Given the description of an element on the screen output the (x, y) to click on. 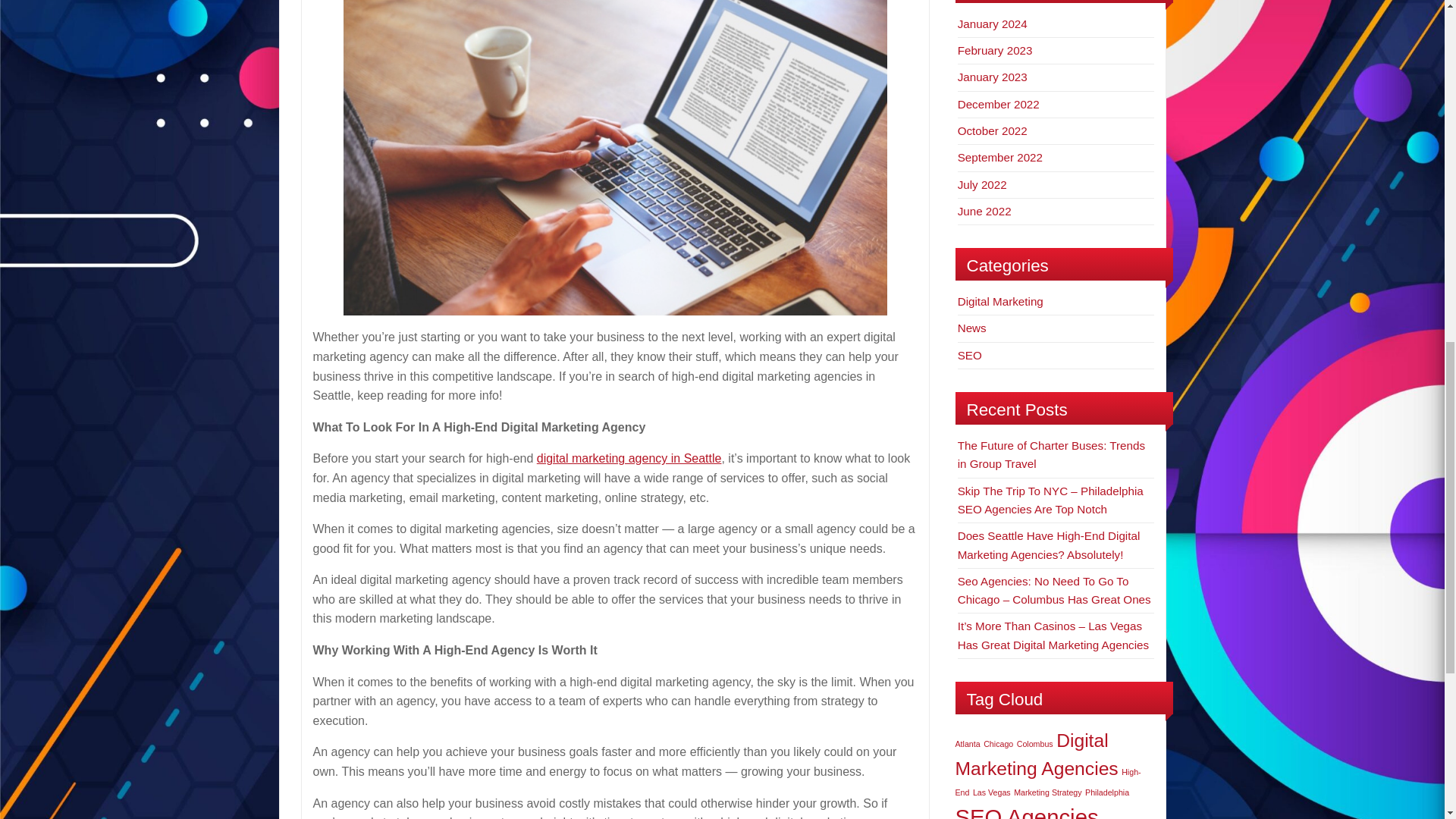
News (972, 327)
September 2022 (1000, 156)
SEO (969, 354)
Digital Marketing (1000, 300)
October 2022 (992, 130)
December 2022 (998, 103)
Chicago (998, 743)
January 2024 (992, 23)
July 2022 (982, 184)
Atlanta (967, 743)
The Future of Charter Buses: Trends in Group Travel (1051, 454)
February 2023 (995, 50)
June 2022 (984, 210)
January 2023 (992, 76)
